Given the description of an element on the screen output the (x, y) to click on. 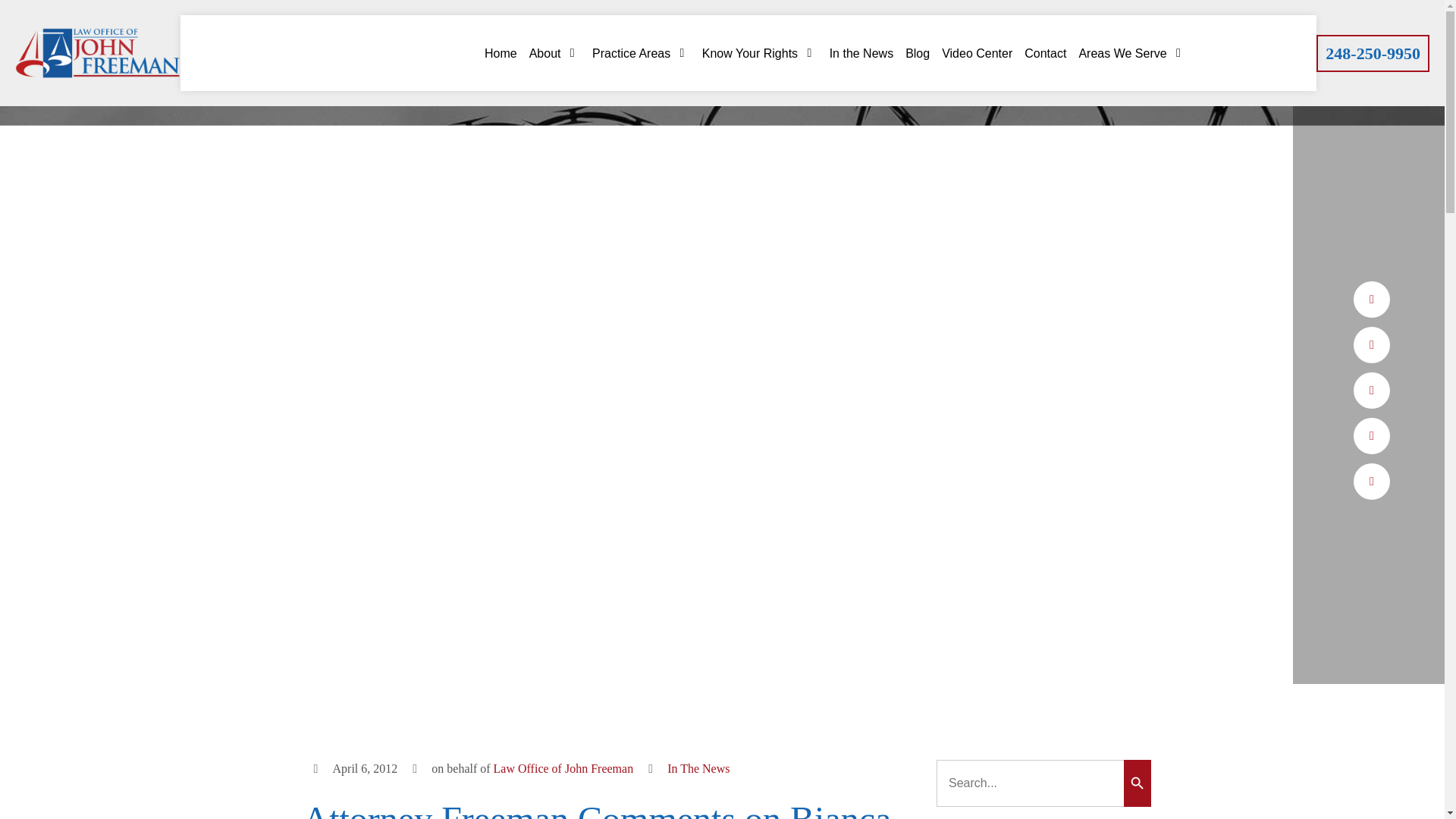
About (554, 53)
Practice Areas (641, 53)
Home (500, 53)
